Given the description of an element on the screen output the (x, y) to click on. 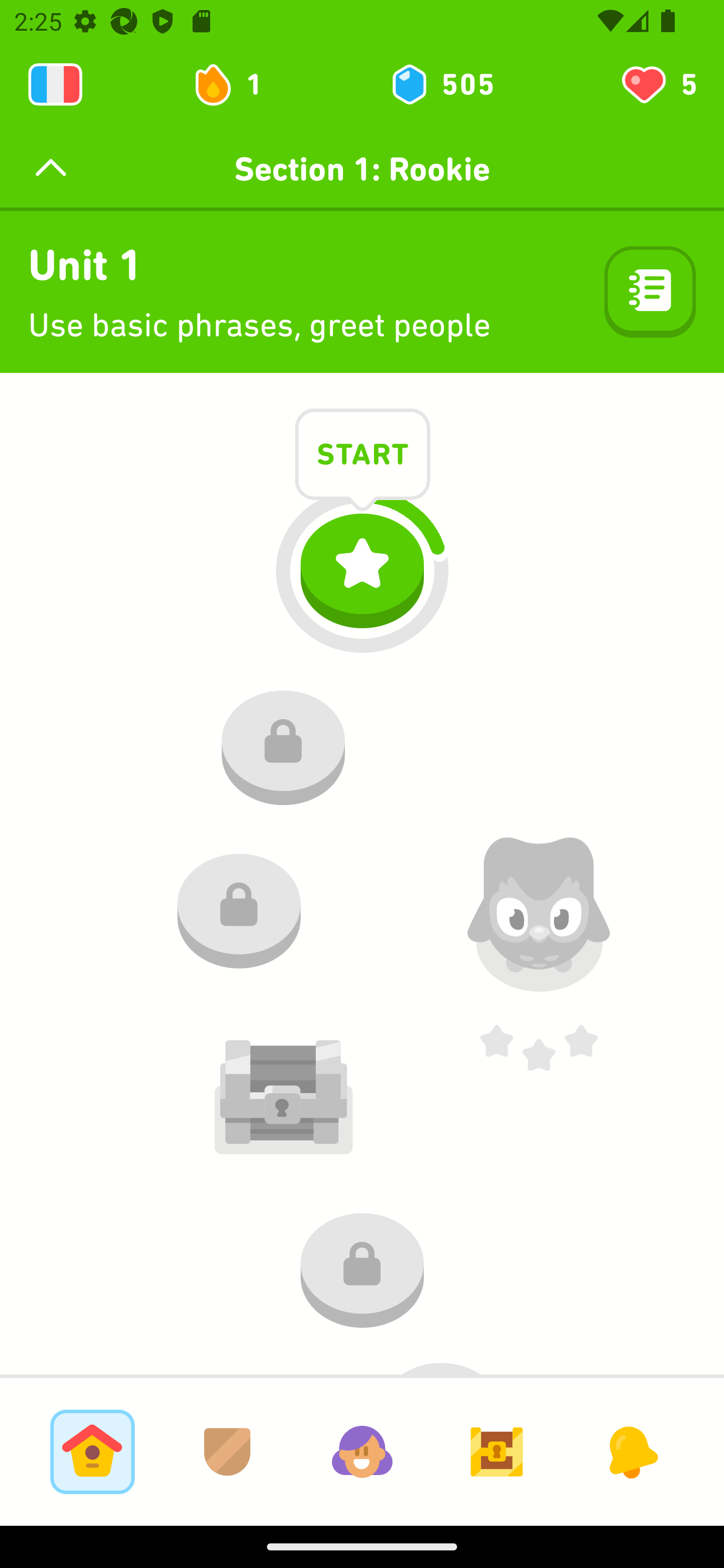
Learning 2131888976 (55, 84)
1 day streak 1 (236, 84)
505 (441, 84)
You have 5 hearts left 5 (657, 84)
Section 1: Rookie (362, 169)
START (362, 457)
Learn Tab (91, 1451)
Leagues Tab (227, 1451)
Profile Tab (361, 1451)
Goals Tab (496, 1451)
News Tab (631, 1451)
